Given the description of an element on the screen output the (x, y) to click on. 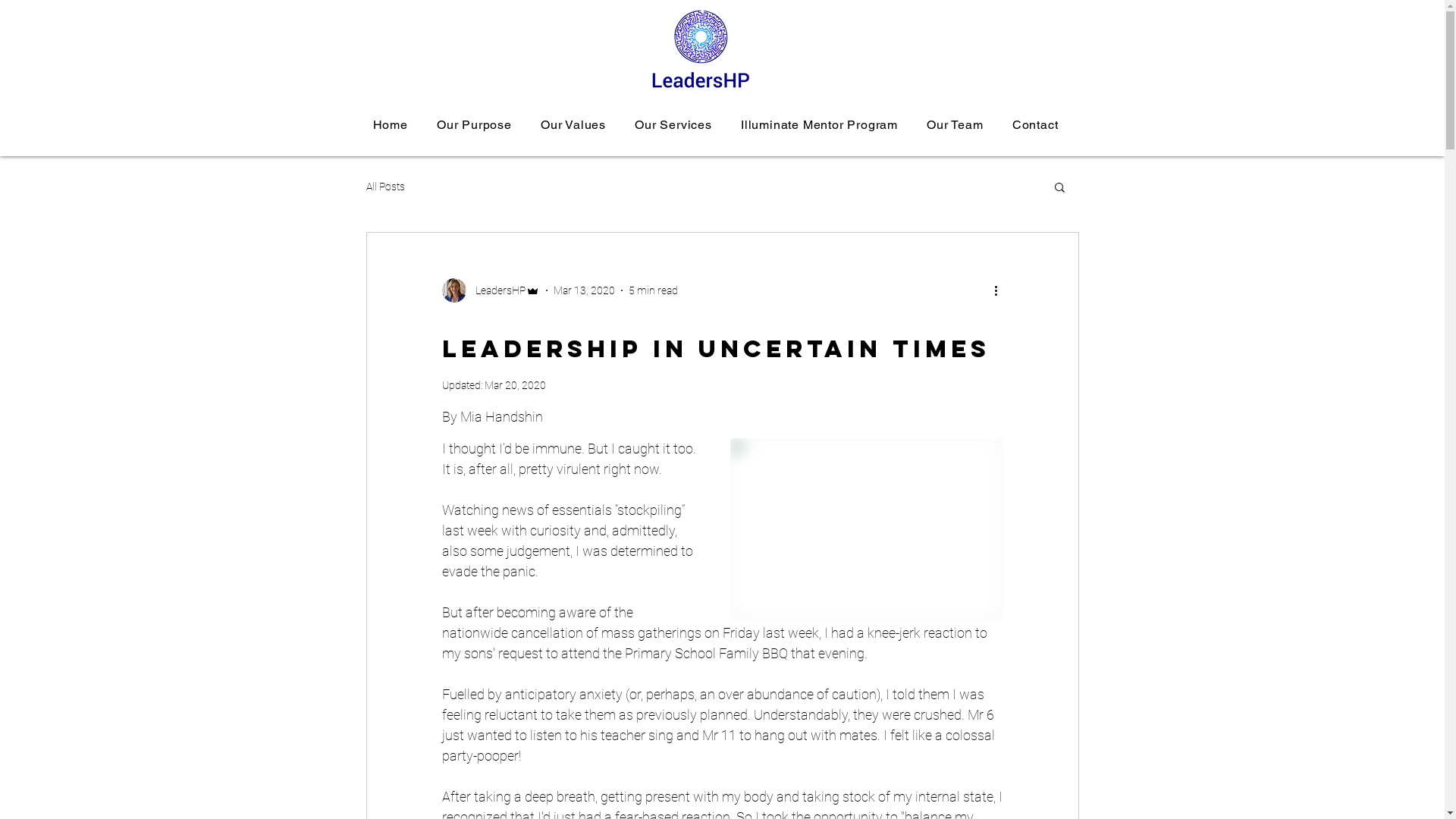
Our Values Element type: text (573, 124)
Our Team Element type: text (954, 124)
Our Services Element type: text (673, 124)
Home Element type: text (389, 124)
LeadersHP Element type: text (490, 290)
All Posts Element type: text (384, 186)
Contact Element type: text (1035, 124)
Illuminate Mentor Program Element type: text (819, 124)
Our Purpose Element type: text (474, 124)
